Given the description of an element on the screen output the (x, y) to click on. 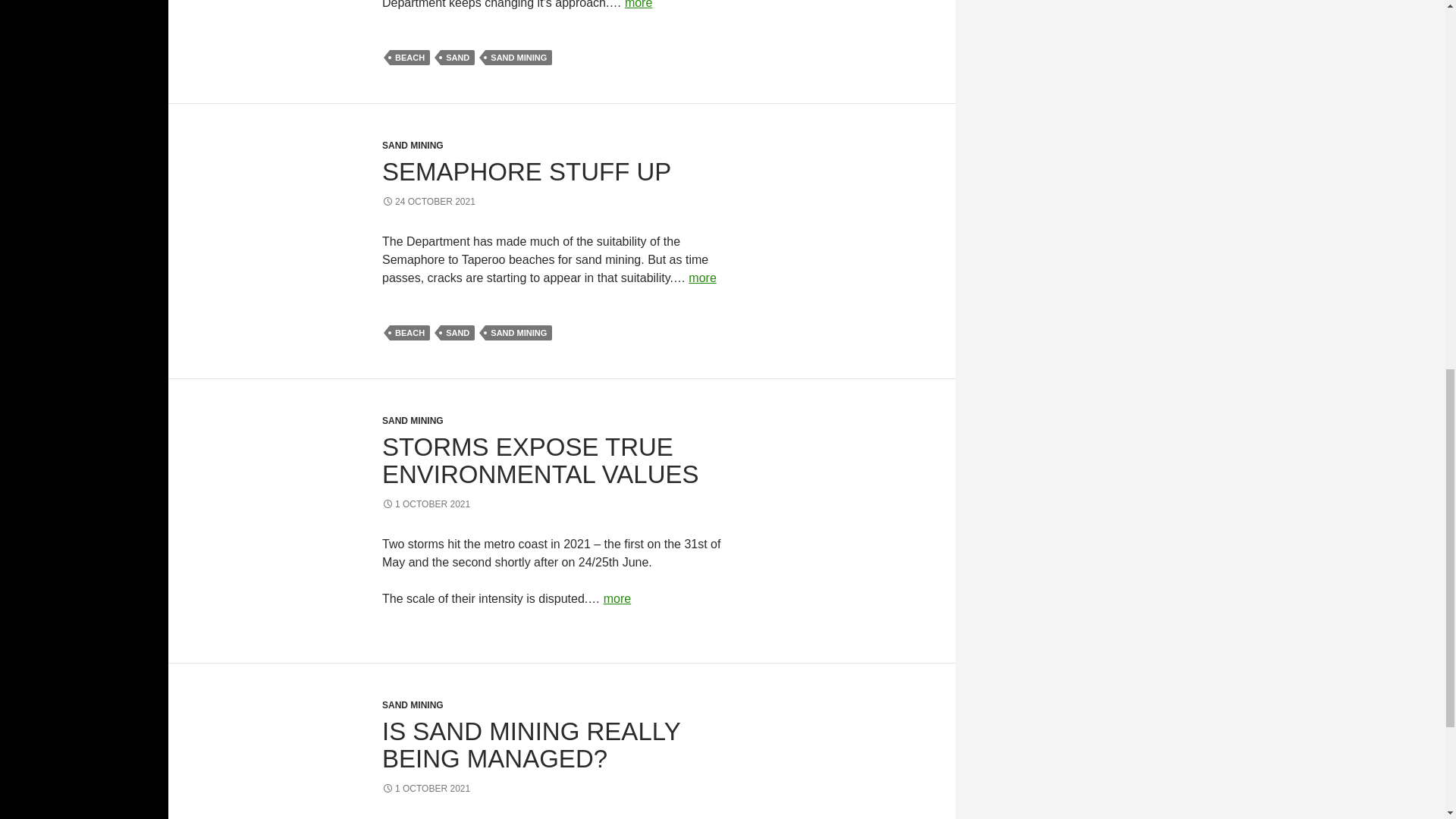
IS SAND MINING REALLY BEING MANAGED? (530, 745)
SAND MINING (412, 705)
24 OCTOBER 2021 (428, 201)
SAND MINING (517, 332)
1 OCTOBER 2021 (425, 503)
SAND MINING (412, 145)
SAND MINING (517, 57)
STORMS EXPOSE TRUE ENVIRONMENTAL VALUES (539, 460)
BEACH (409, 332)
SAND (457, 57)
